Given the description of an element on the screen output the (x, y) to click on. 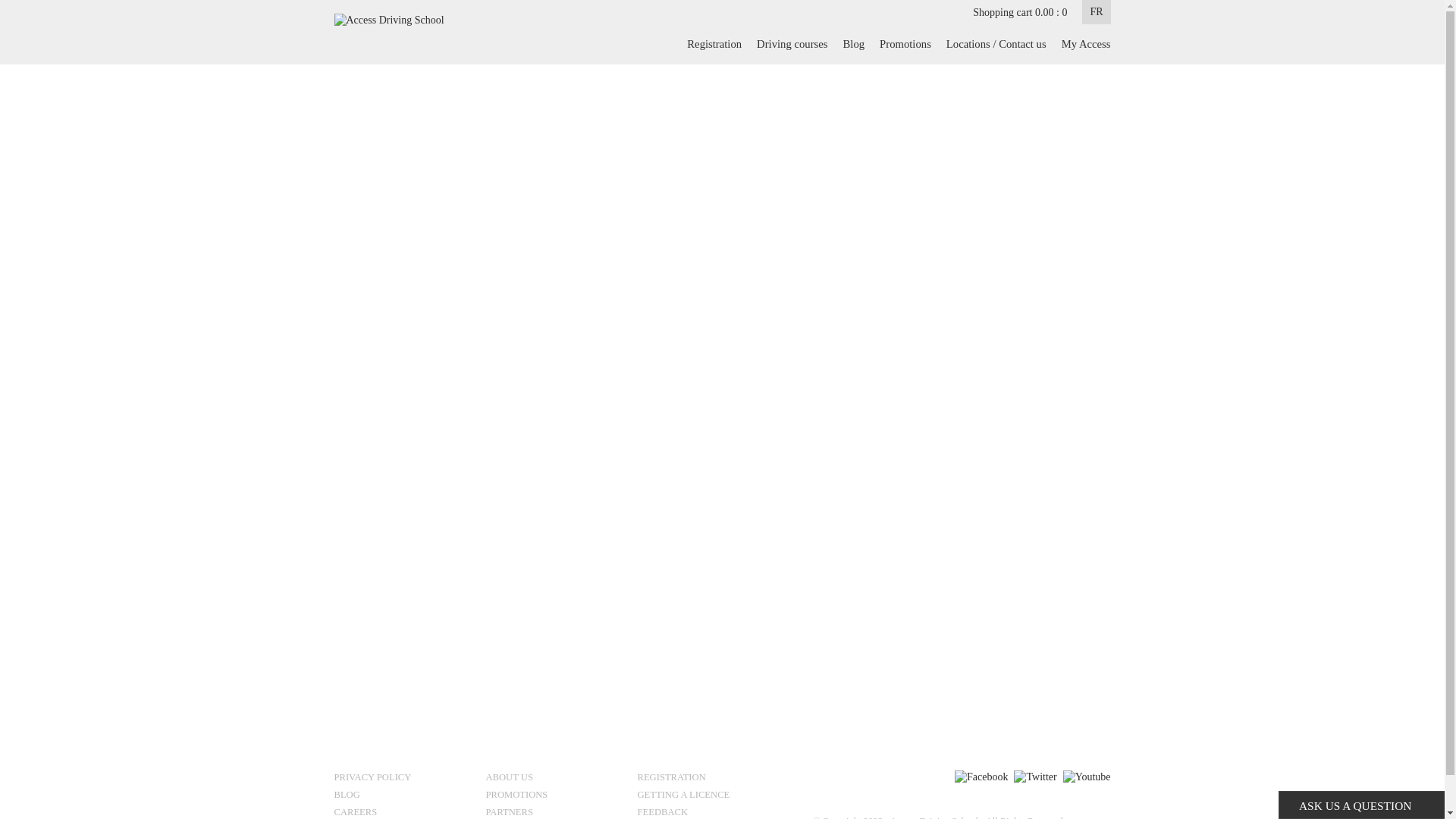
Driving courses Element type: text (791, 43)
Shopping cart 0.00 : 0 Element type: text (1019, 12)
BLOG Element type: text (403, 796)
PRIVACY POLICY Element type: text (403, 778)
Locations / Contact us Element type: text (996, 43)
Ste-Anne De Bellevue Element type: text (538, 223)
Promotions Element type: text (905, 43)
REGISTRATION Element type: text (707, 778)
ABOUT US Element type: text (555, 778)
My Access Element type: text (1082, 43)
GETTING A LICENCE Element type: text (707, 796)
PROMOTIONS Element type: text (555, 796)
Blog Element type: text (853, 43)
Registration Element type: text (714, 43)
